Given the description of an element on the screen output the (x, y) to click on. 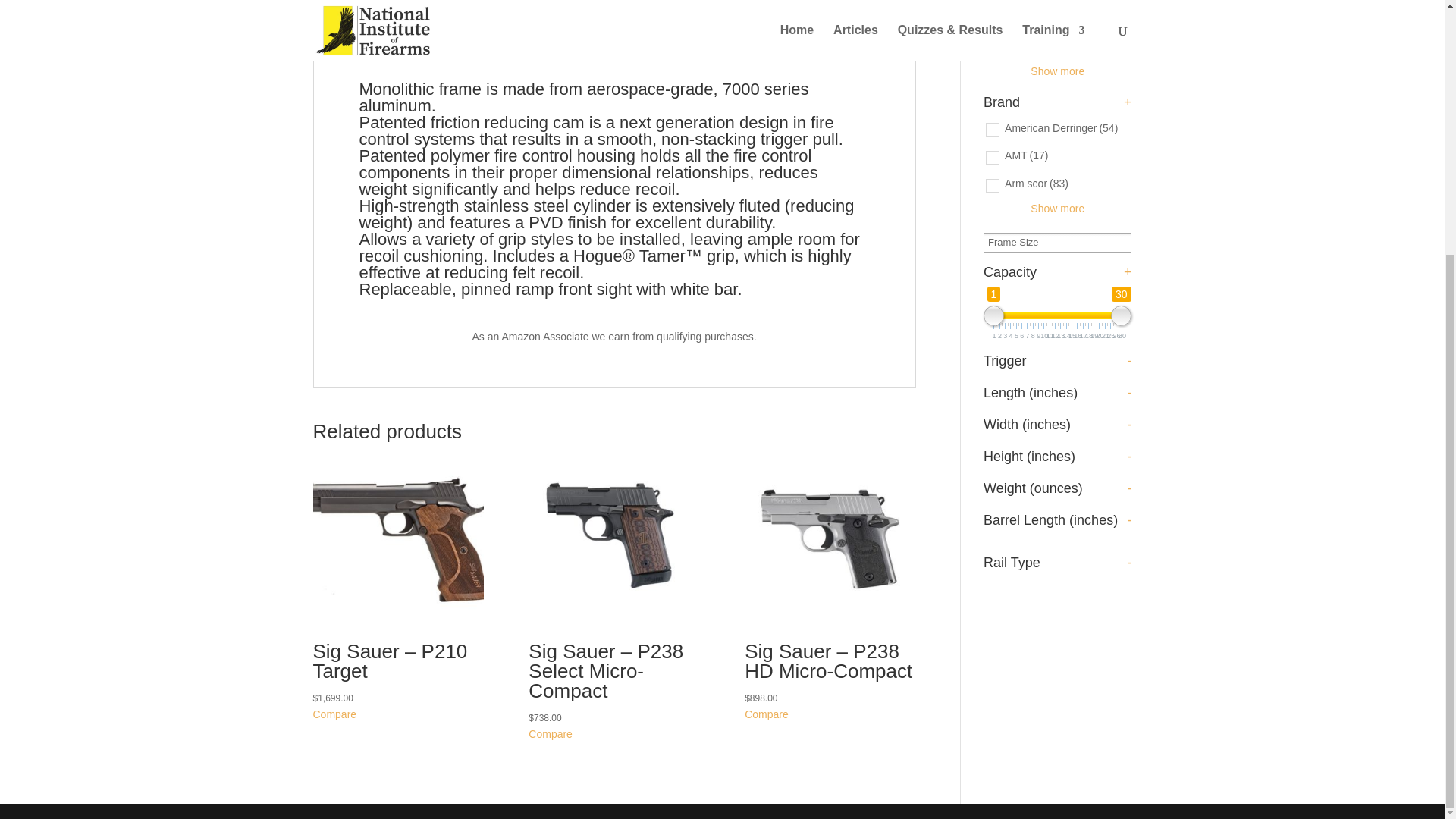
Additional information (477, 4)
Frame Size (1018, 241)
Description (358, 4)
